Given the description of an element on the screen output the (x, y) to click on. 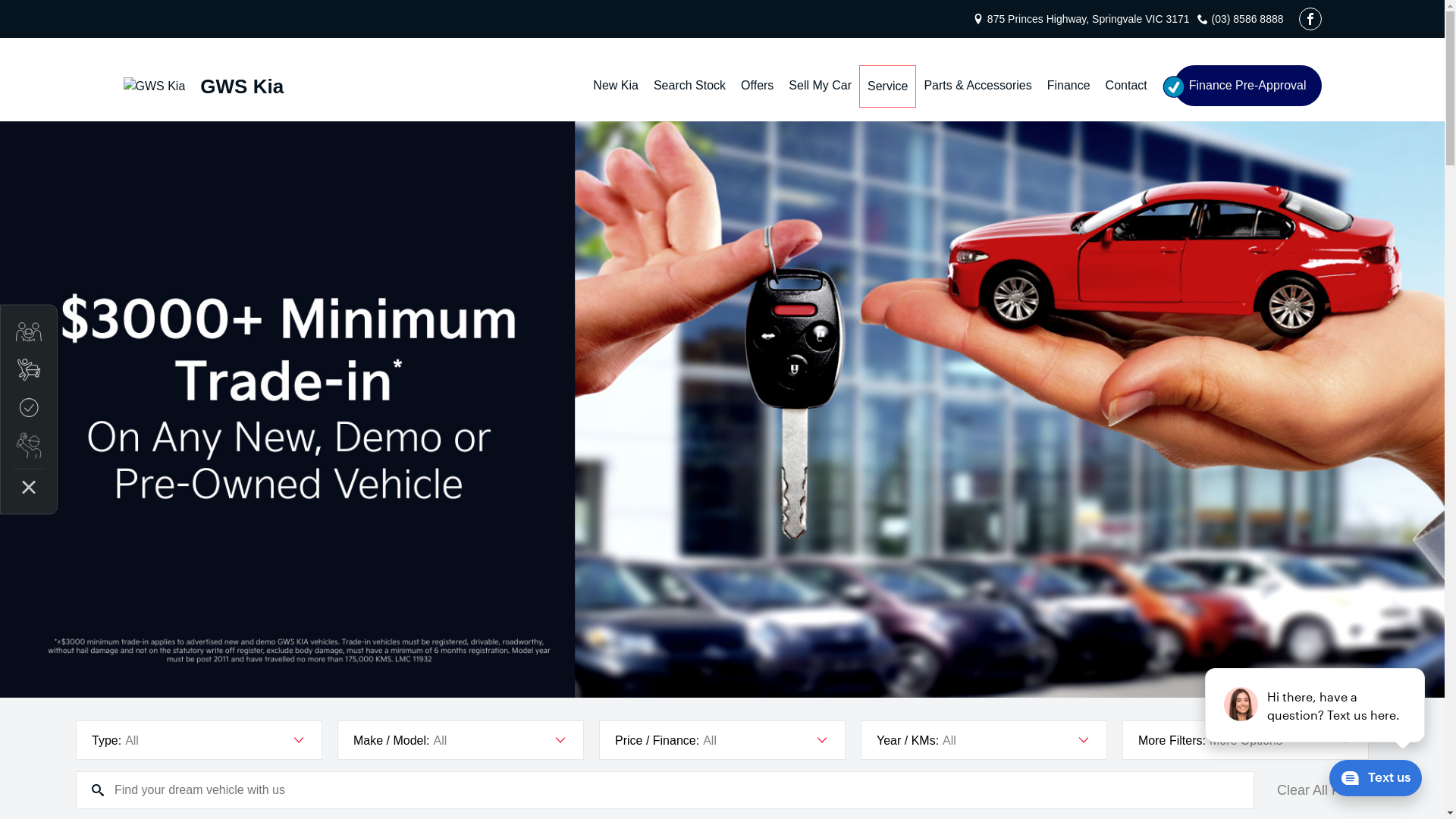
New Kia Element type: text (615, 85)
Finance Element type: text (1068, 85)
Offers Element type: text (757, 85)
Sell My Car Element type: text (820, 85)
Service Element type: text (887, 86)
875 Princes Highway, Springvale VIC 3171 Element type: text (1088, 18)
podium webchat widget prompt Element type: hover (1315, 705)
Parts & Accessories Element type: text (977, 85)
Clear All Filters Element type: text (1322, 790)
Contact Element type: text (1126, 85)
Finance Pre-Approval Element type: text (1247, 85)
(03) 8586 8888 Element type: text (1247, 18)
Search Stock Element type: text (689, 85)
